Given the description of an element on the screen output the (x, y) to click on. 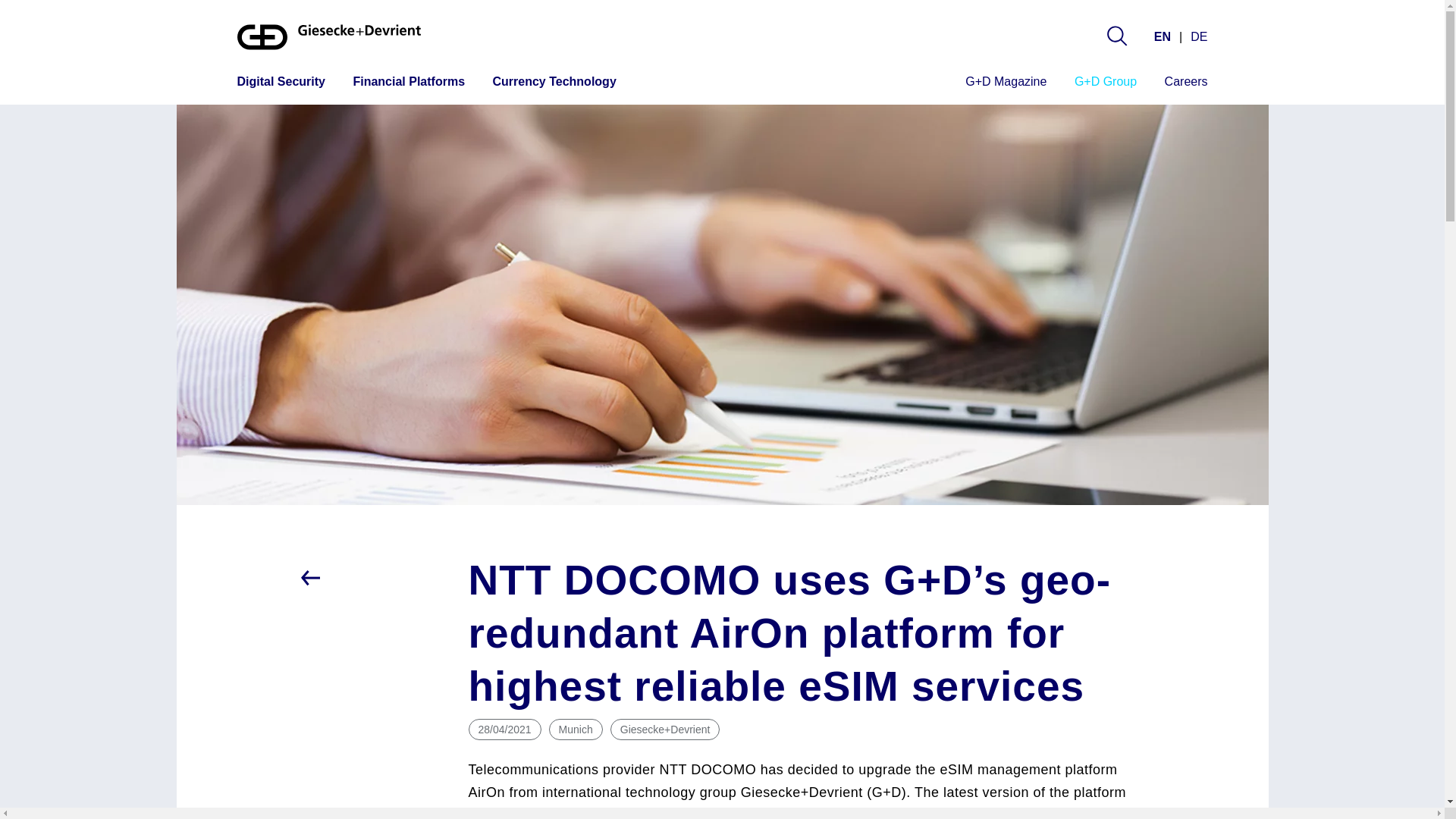
EN (1164, 36)
Currency Technology (553, 83)
Digital Security (279, 83)
DE (1196, 36)
Financial Platforms (408, 83)
Careers (1186, 83)
